Given the description of an element on the screen output the (x, y) to click on. 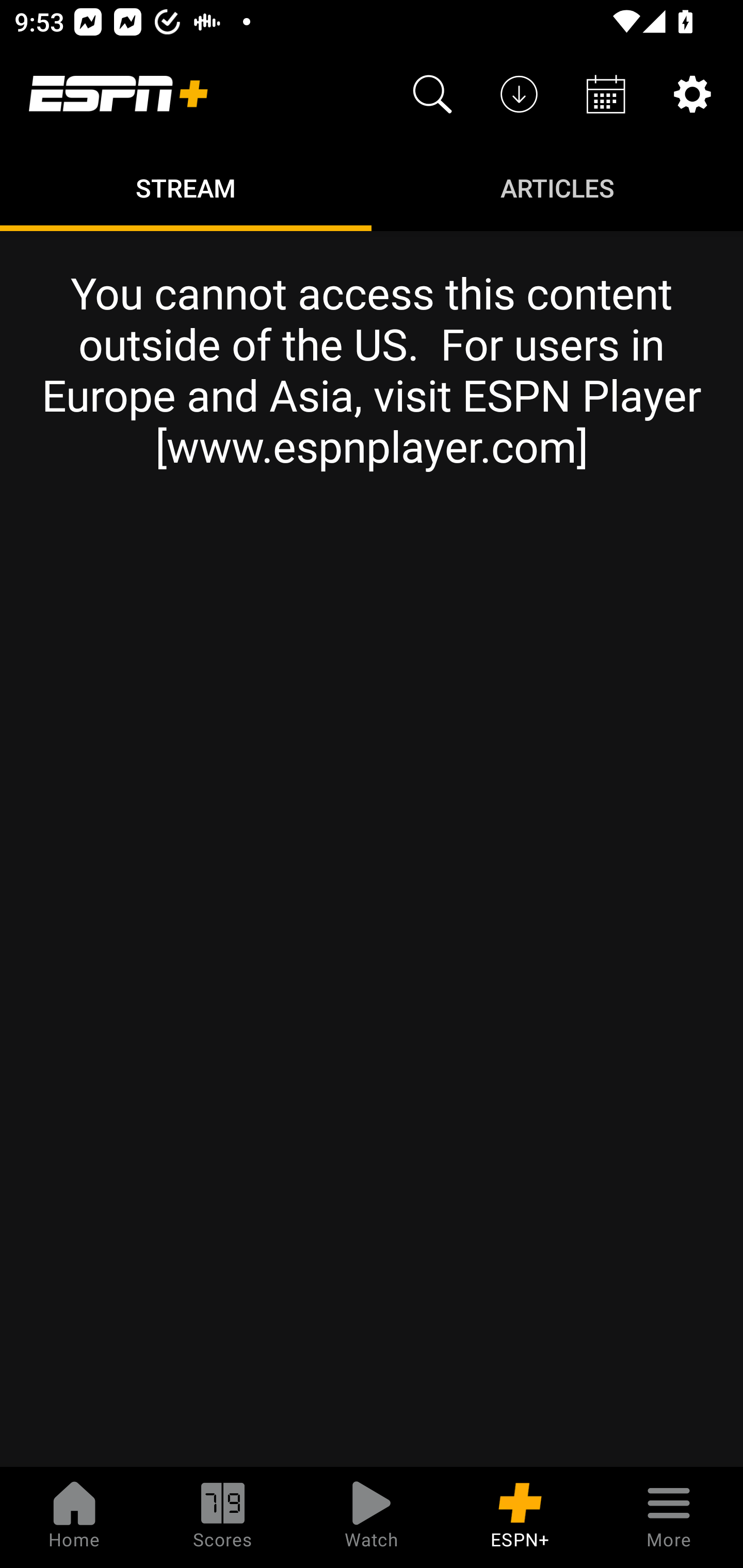
Search (432, 93)
Downloads (518, 93)
Schedule (605, 93)
Settings (692, 93)
Articles ARTICLES (557, 187)
Home (74, 1517)
Scores (222, 1517)
Watch (371, 1517)
More (668, 1517)
